Given the description of an element on the screen output the (x, y) to click on. 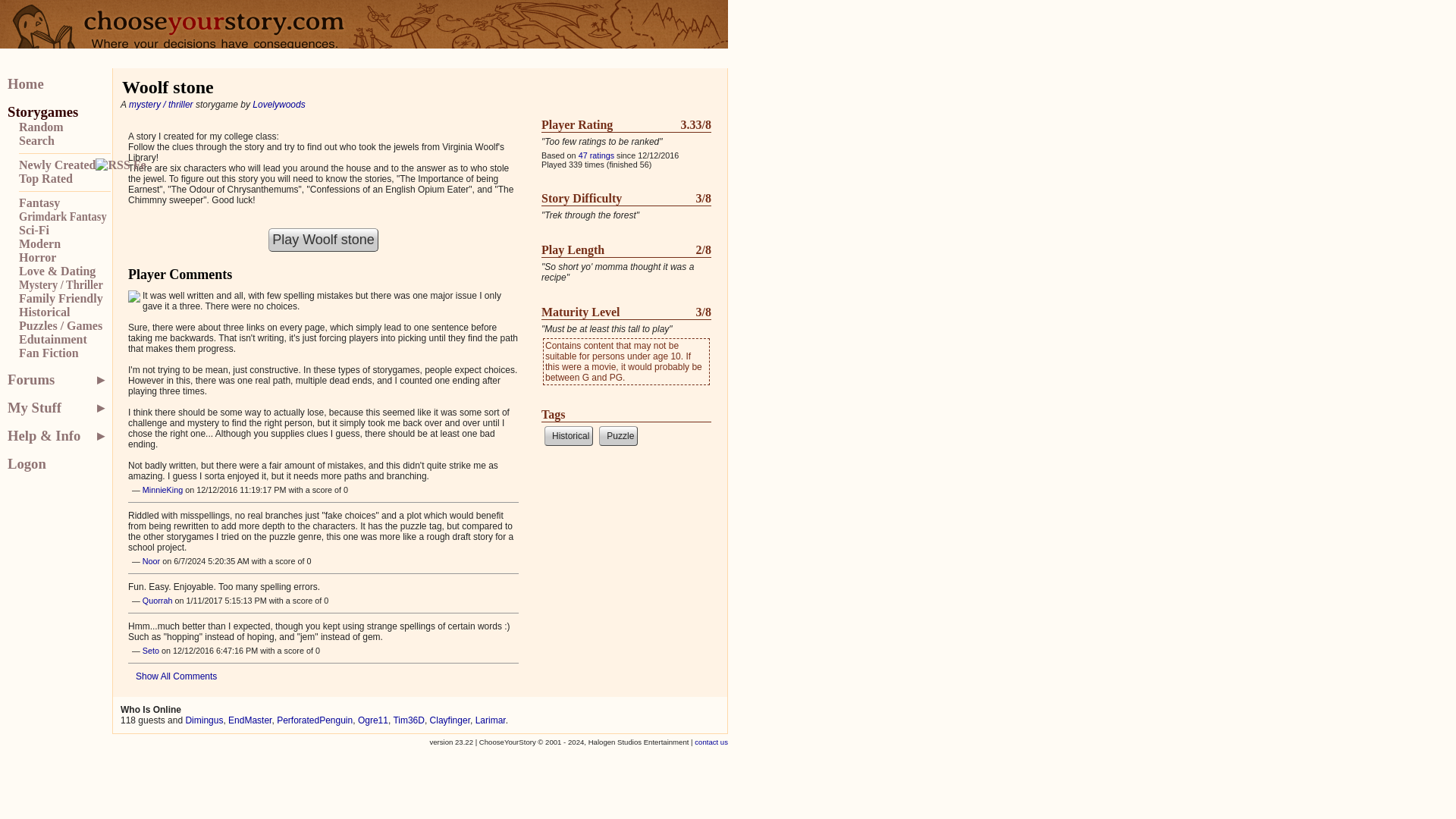
Sci-Fi (64, 230)
Profile page for Quorrah (157, 600)
Home (58, 84)
MinnieKing (162, 489)
Syndicate with RSS (120, 164)
Edutainment (64, 339)
Show All Comments (323, 675)
Play Woolf stone (322, 239)
Family Friendly (64, 298)
Profile page for PerforatedPenguin (314, 719)
